Given the description of an element on the screen output the (x, y) to click on. 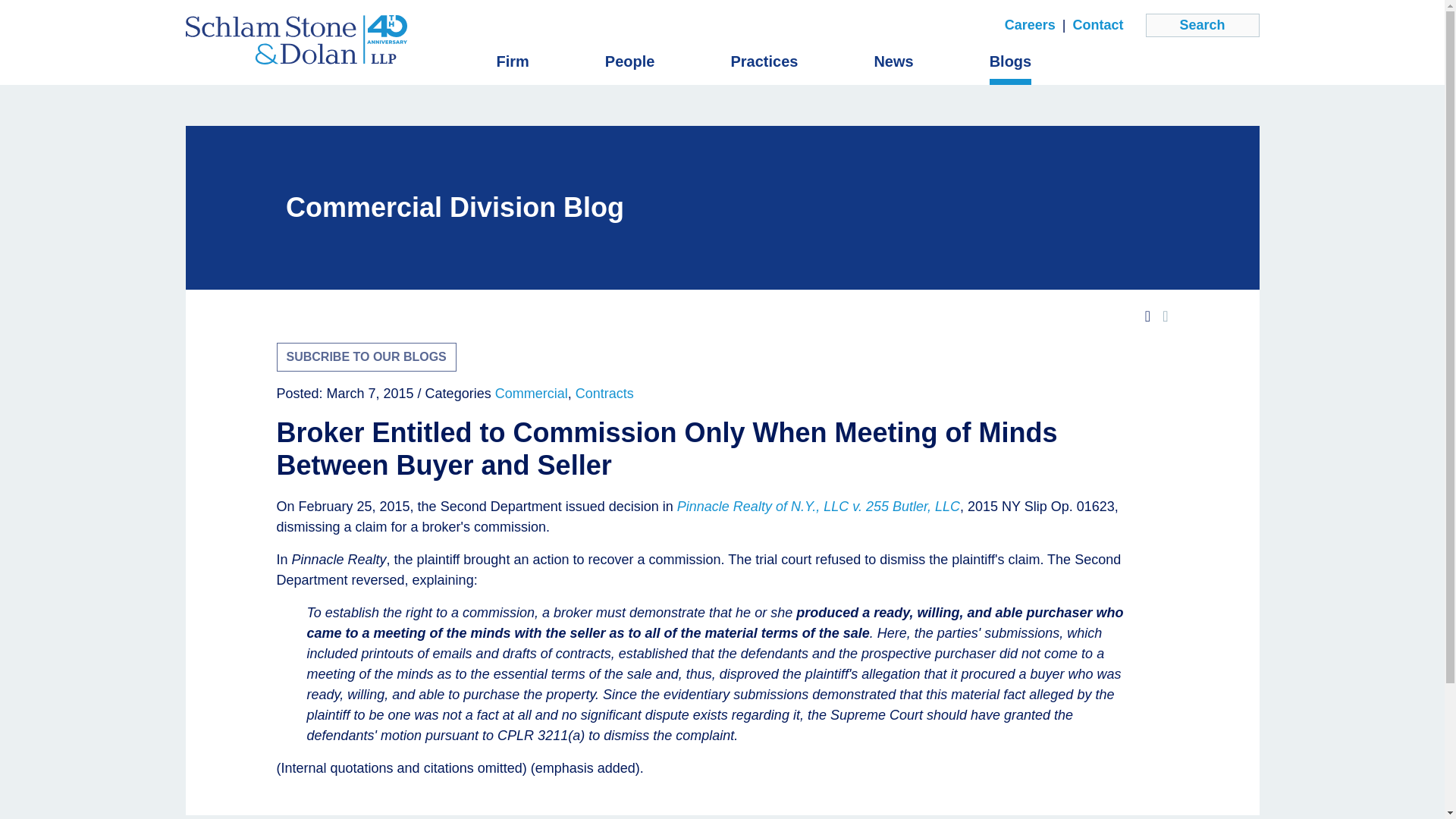
Firm (512, 60)
News (892, 60)
People (630, 60)
Contact (1096, 25)
SUBCRIBE TO OUR BLOGS (365, 357)
Contracts (604, 393)
Search Input (1201, 24)
Blogs (1011, 60)
Pinnacle Realty of N.Y., LLC v. 255 Butler, LLC (818, 506)
Practices (763, 60)
